Given the description of an element on the screen output the (x, y) to click on. 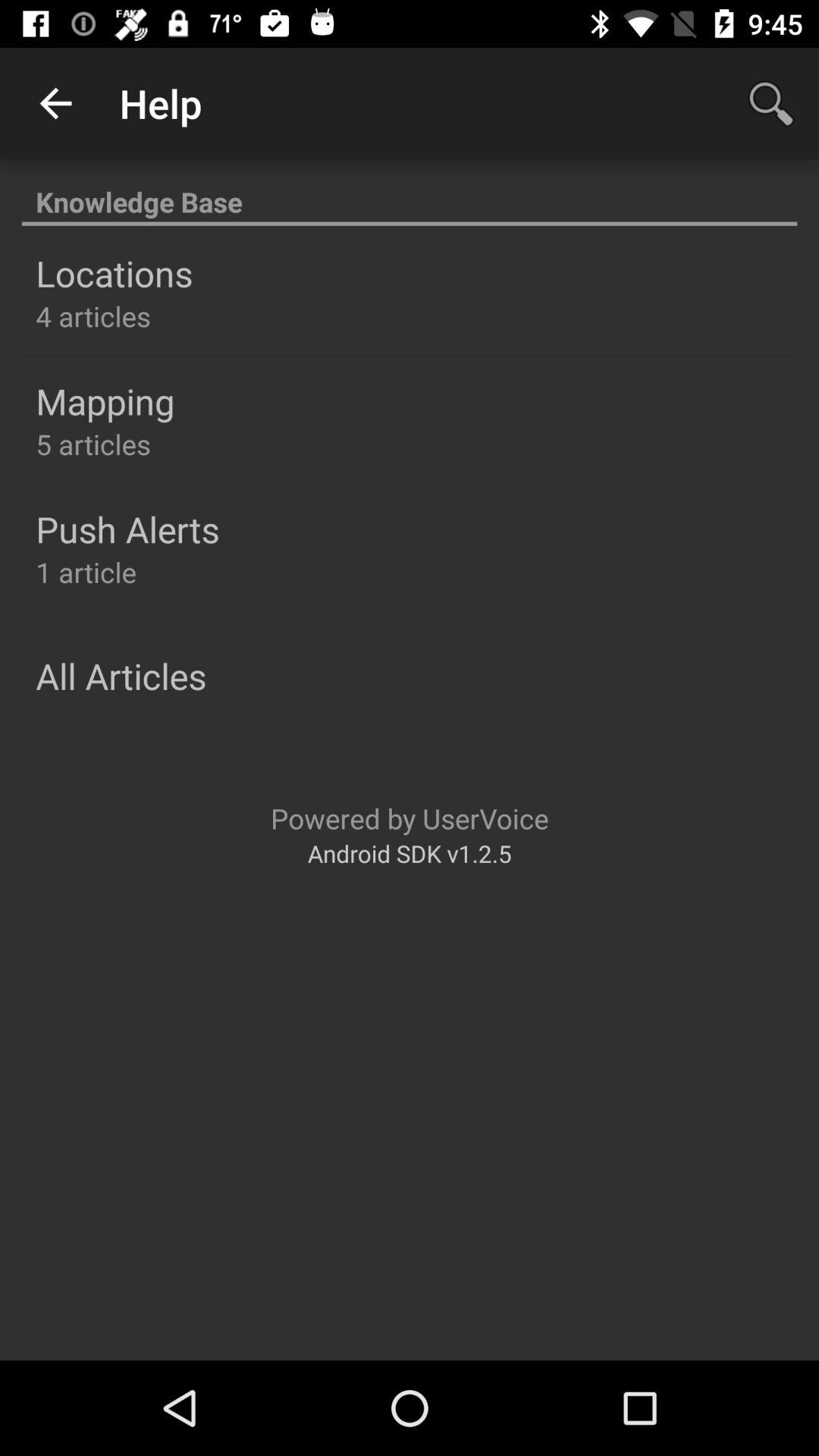
swipe until the android sdk v1 icon (409, 853)
